Given the description of an element on the screen output the (x, y) to click on. 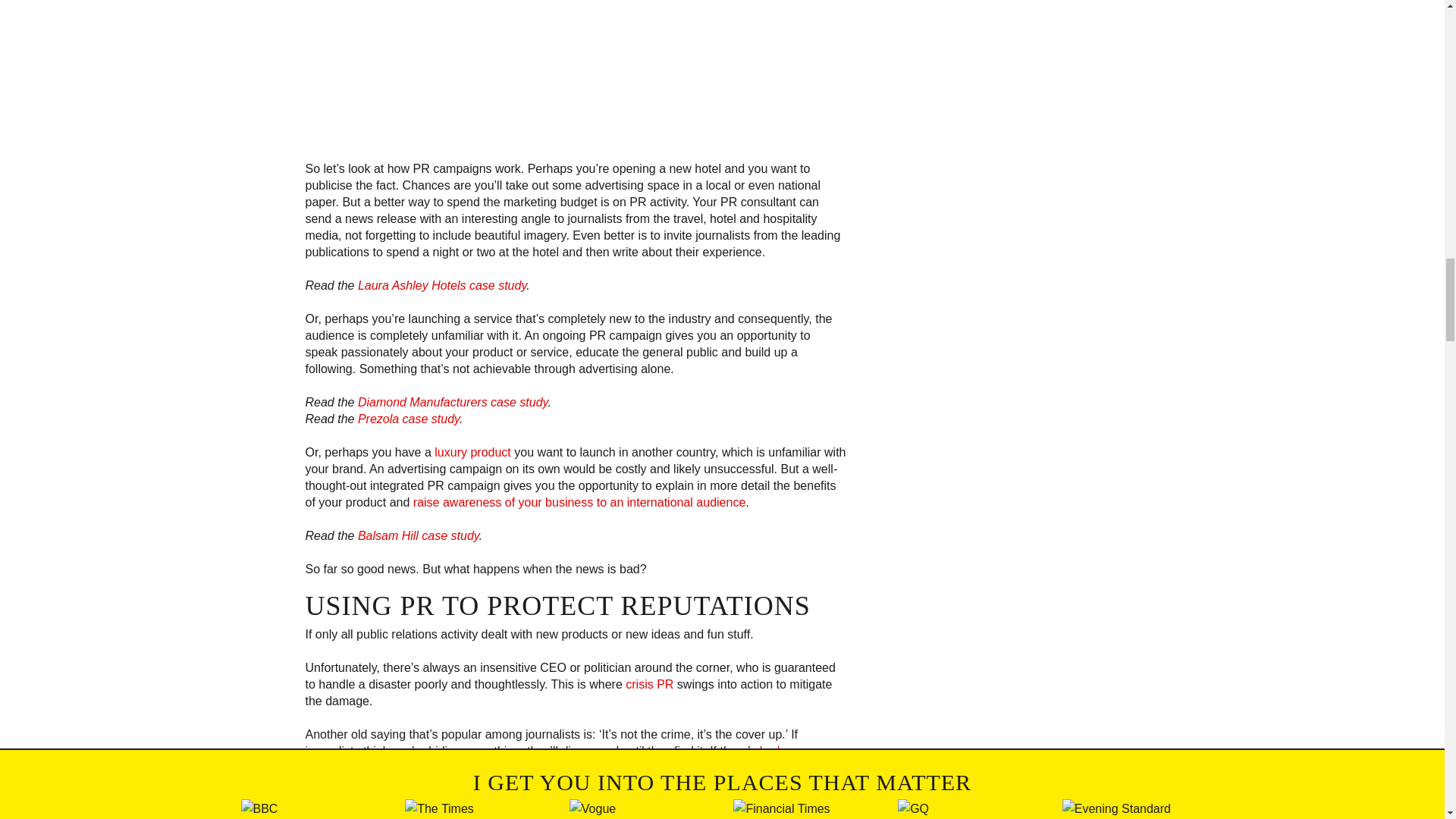
Diamond Manufacturers case study (452, 401)
Prezola case study (409, 418)
luxury product (472, 451)
Balsam Hill case study (418, 535)
bad news (786, 750)
What Does a PR Pro Do? (441, 815)
crisis PR (649, 684)
Laura Ashley Hotels case study (441, 285)
